Given the description of an element on the screen output the (x, y) to click on. 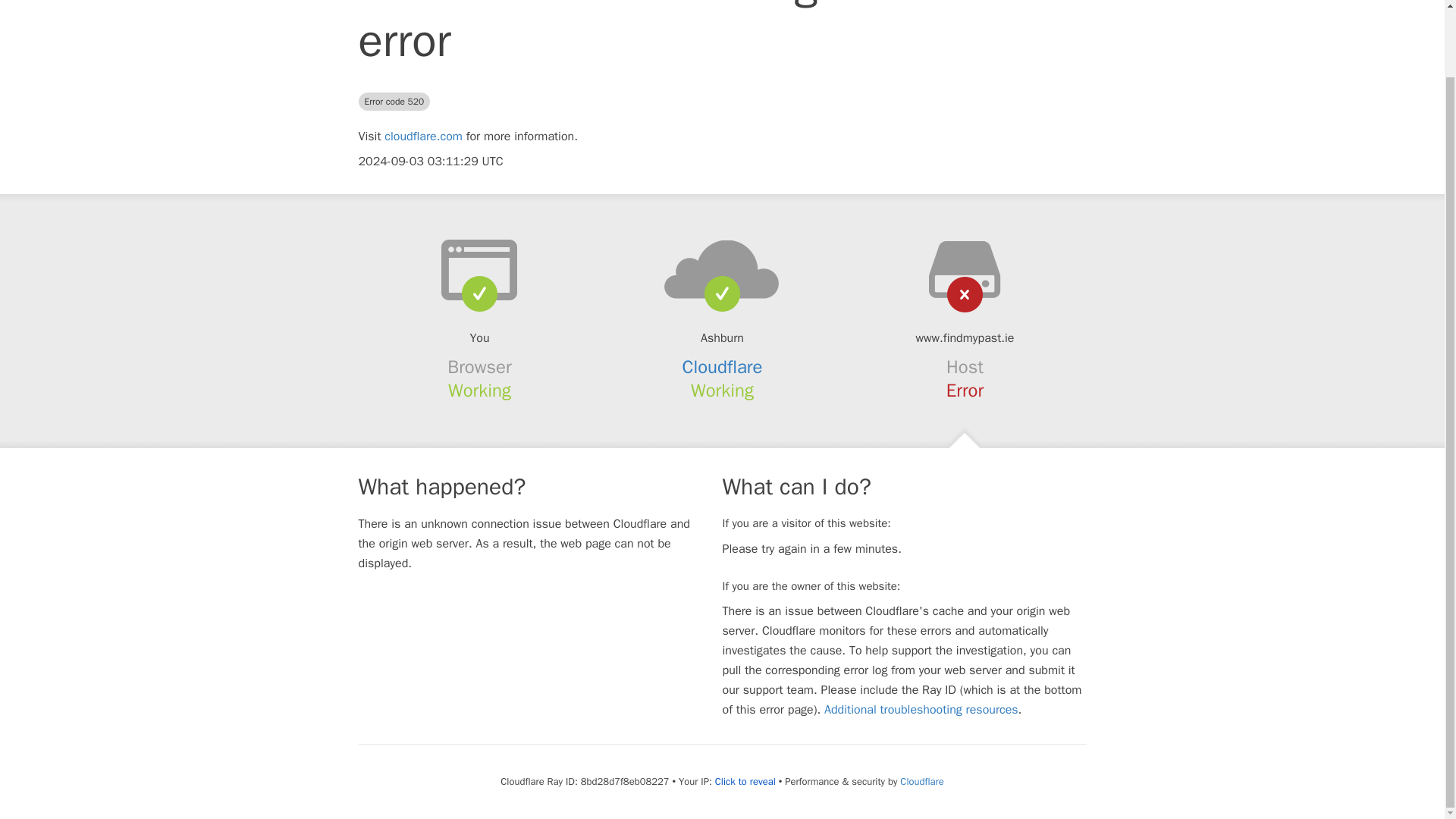
Click to reveal (745, 781)
Additional troubleshooting resources (920, 709)
cloudflare.com (423, 136)
Cloudflare (921, 780)
Cloudflare (722, 366)
